Given the description of an element on the screen output the (x, y) to click on. 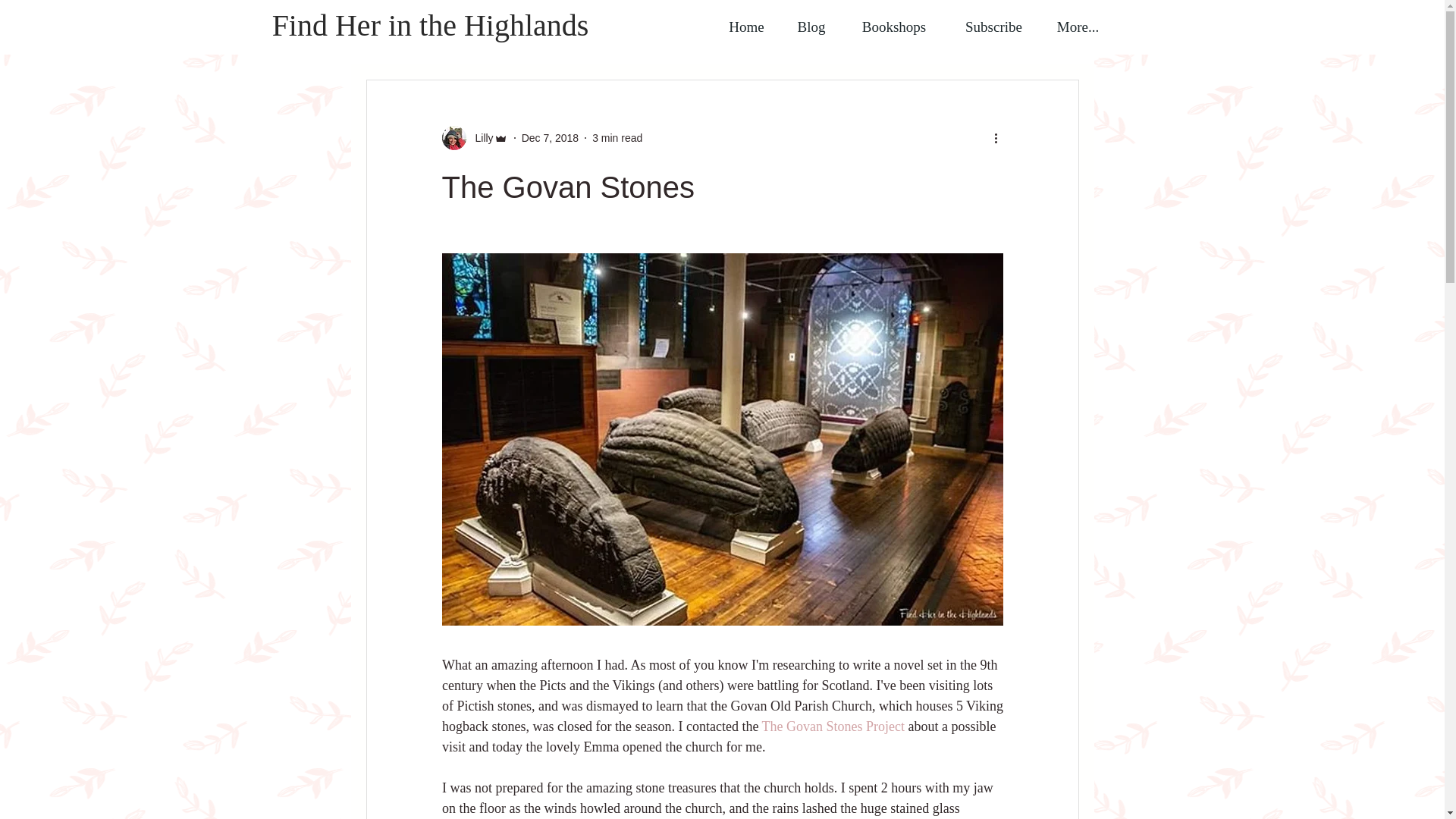
3 min read (617, 137)
Pictish (911, 34)
Dec 7, 2018 (550, 137)
Blog (810, 26)
All Posts (387, 34)
Perthshire (712, 34)
Castles (846, 34)
Aberdeenshire (475, 34)
Moray (782, 34)
The Govan Stones Project (832, 726)
Hiking (973, 34)
Islands (638, 34)
Bookshops (893, 26)
Lilly (473, 137)
Lilly (479, 138)
